Given the description of an element on the screen output the (x, y) to click on. 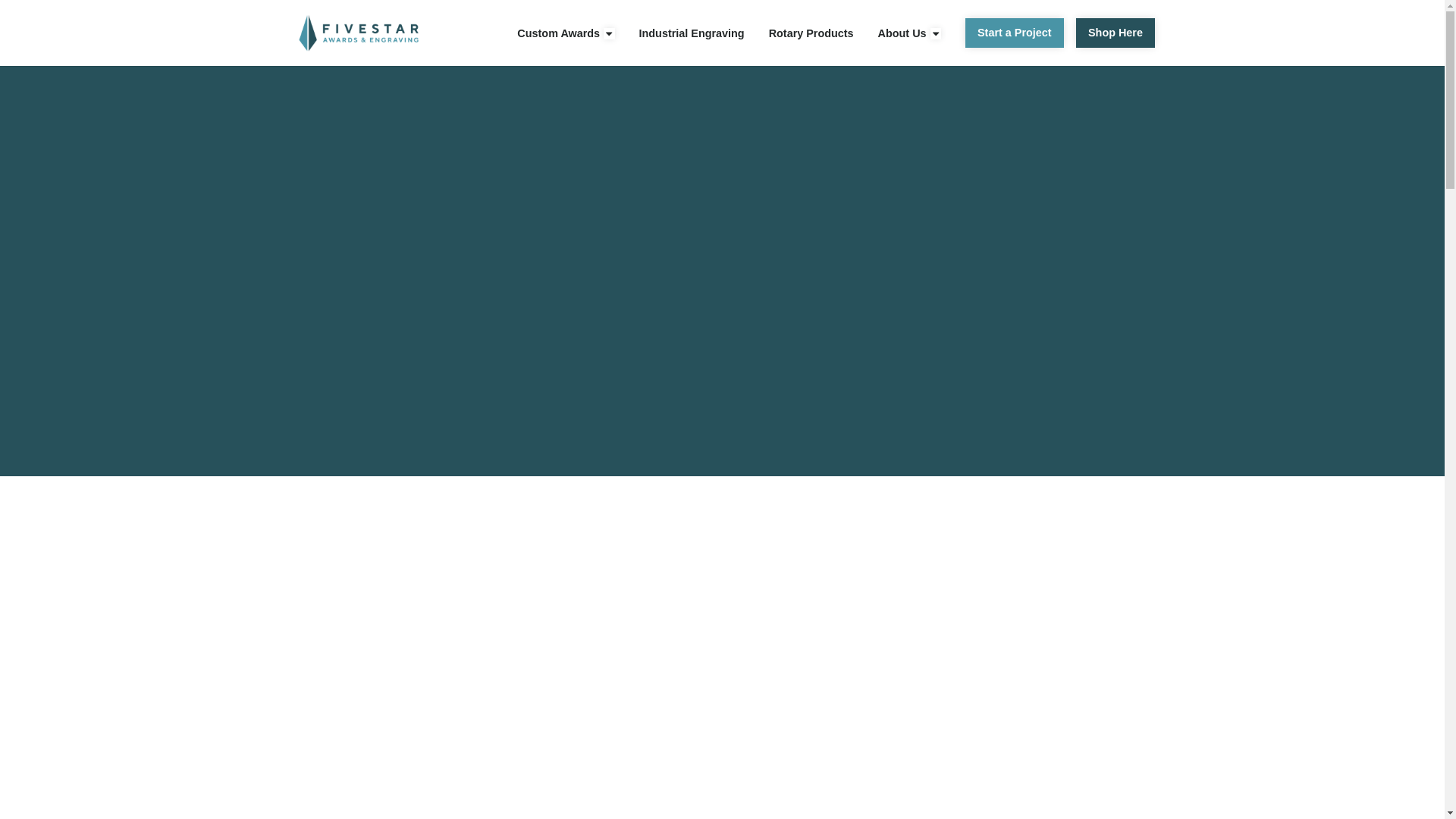
Start a Project (1014, 32)
Custom Awards (557, 33)
About Us (901, 33)
Industrial Engraving (691, 33)
Rotary Products (810, 33)
Shop Here (1114, 32)
